Given the description of an element on the screen output the (x, y) to click on. 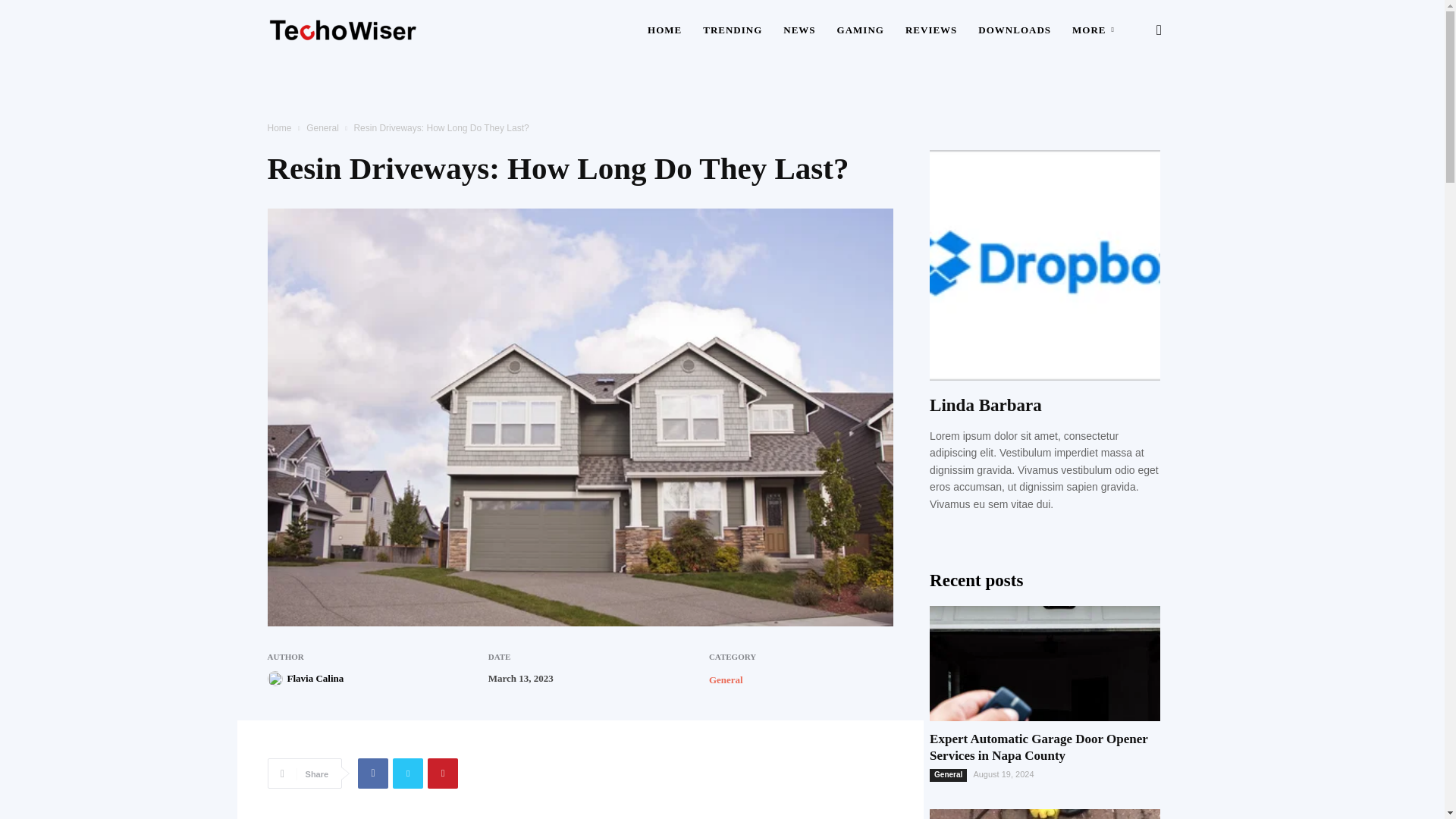
General (725, 679)
GAMING (861, 30)
Home (278, 127)
MORE (1095, 30)
TRENDING (733, 30)
Search (1134, 102)
HOME (665, 30)
View all posts in General (322, 127)
TechoWiser (342, 30)
REVIEWS (931, 30)
